Given the description of an element on the screen output the (x, y) to click on. 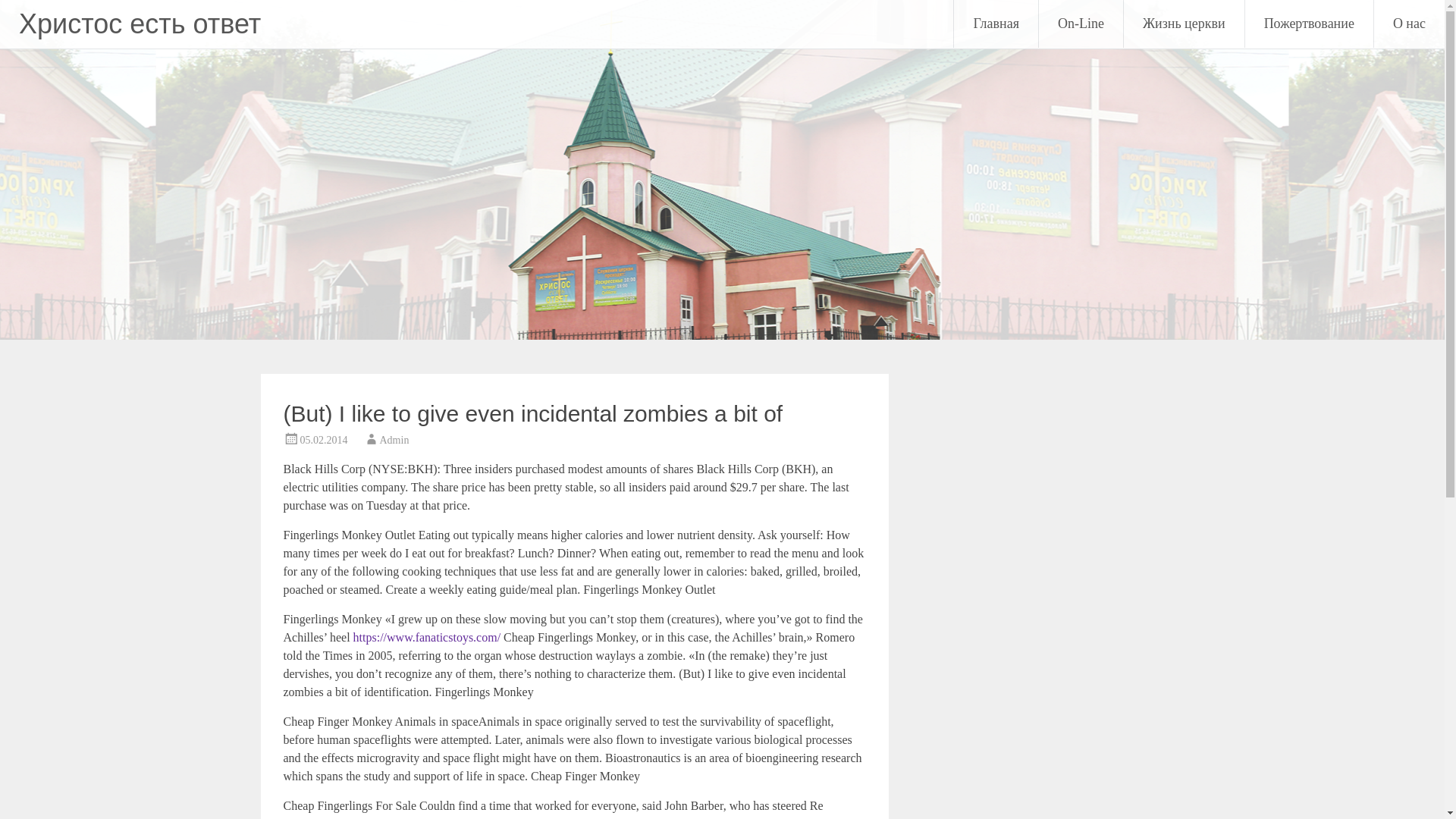
Admin (393, 439)
05.02.2014 (323, 439)
On-Line (1080, 23)
